Given the description of an element on the screen output the (x, y) to click on. 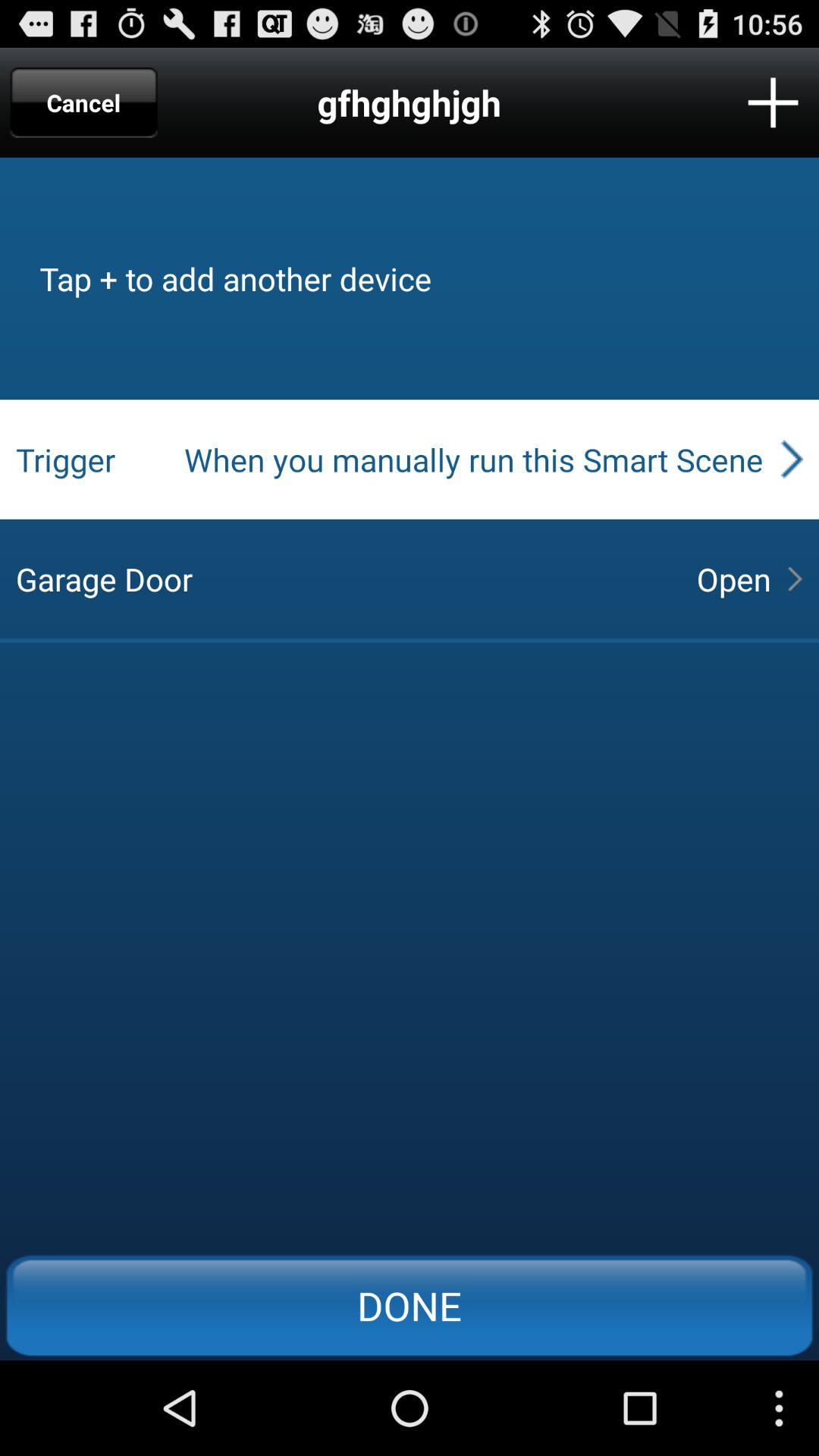
select the cancel button (83, 102)
